Given the description of an element on the screen output the (x, y) to click on. 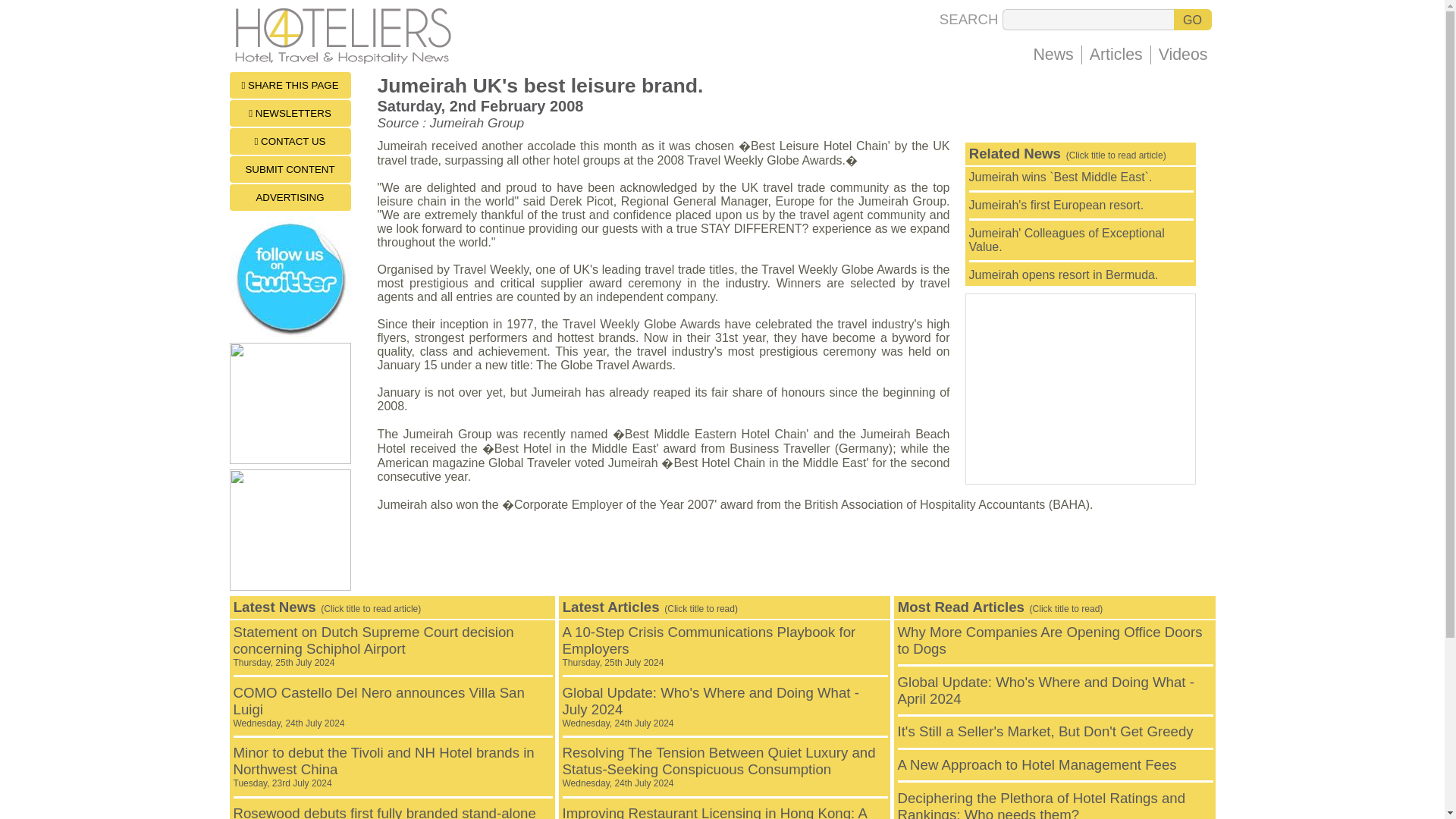
Click to read article (1063, 274)
A New Approach to Hotel Management Fees (1037, 764)
Click to read article (1056, 205)
Jumeirah opens resort in Bermuda. (1063, 274)
Click to read article (710, 706)
Click to read article (1050, 640)
Jumeirah's first European resort. (1056, 205)
Click to read article (383, 766)
Click to read article (378, 706)
Click to read article (1061, 176)
